Given the description of an element on the screen output the (x, y) to click on. 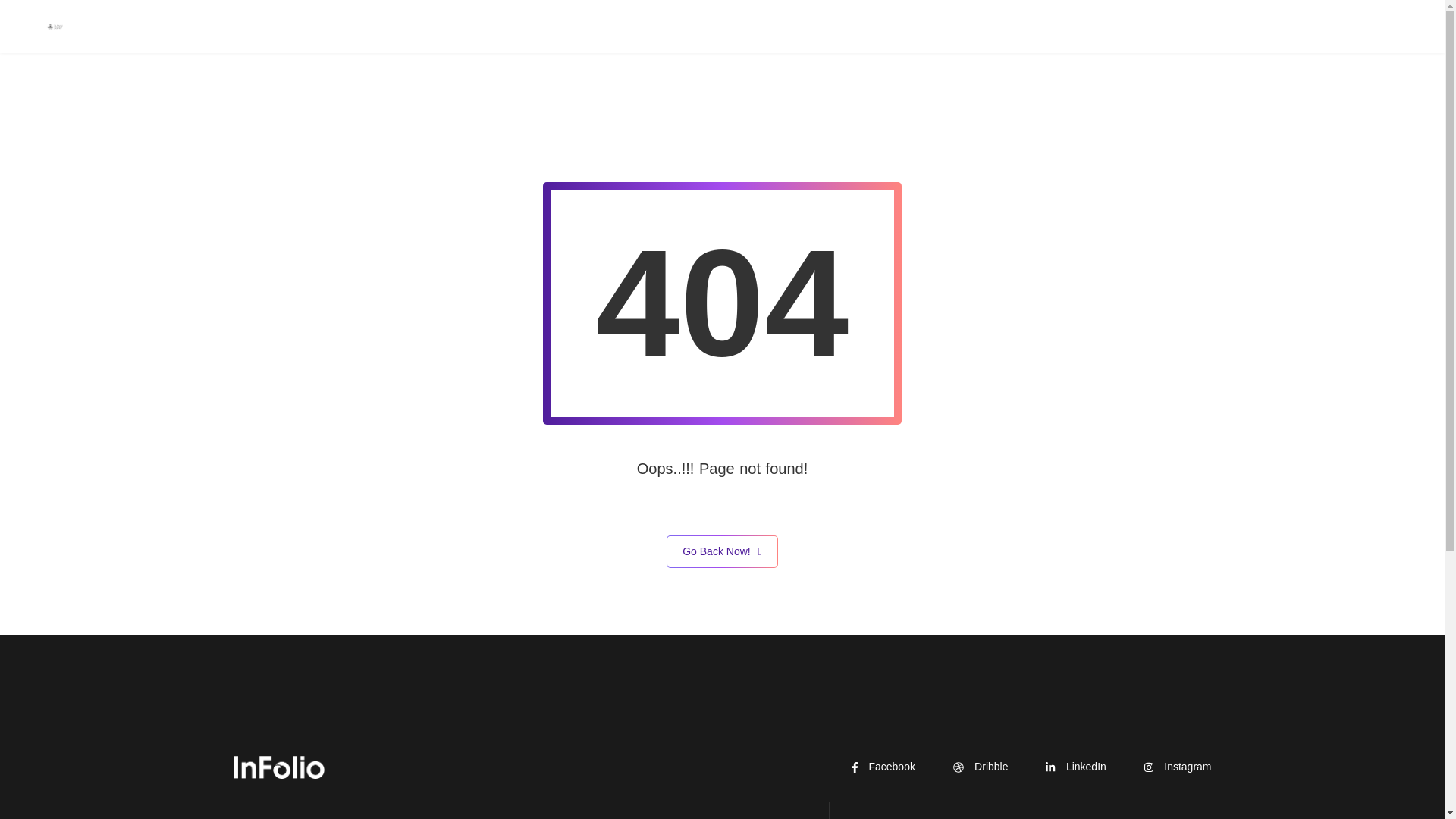
LinkedIn (1075, 765)
Go Back Now! (721, 551)
Instagram (1177, 765)
Dribble (981, 765)
Facebook (883, 765)
